Given the description of an element on the screen output the (x, y) to click on. 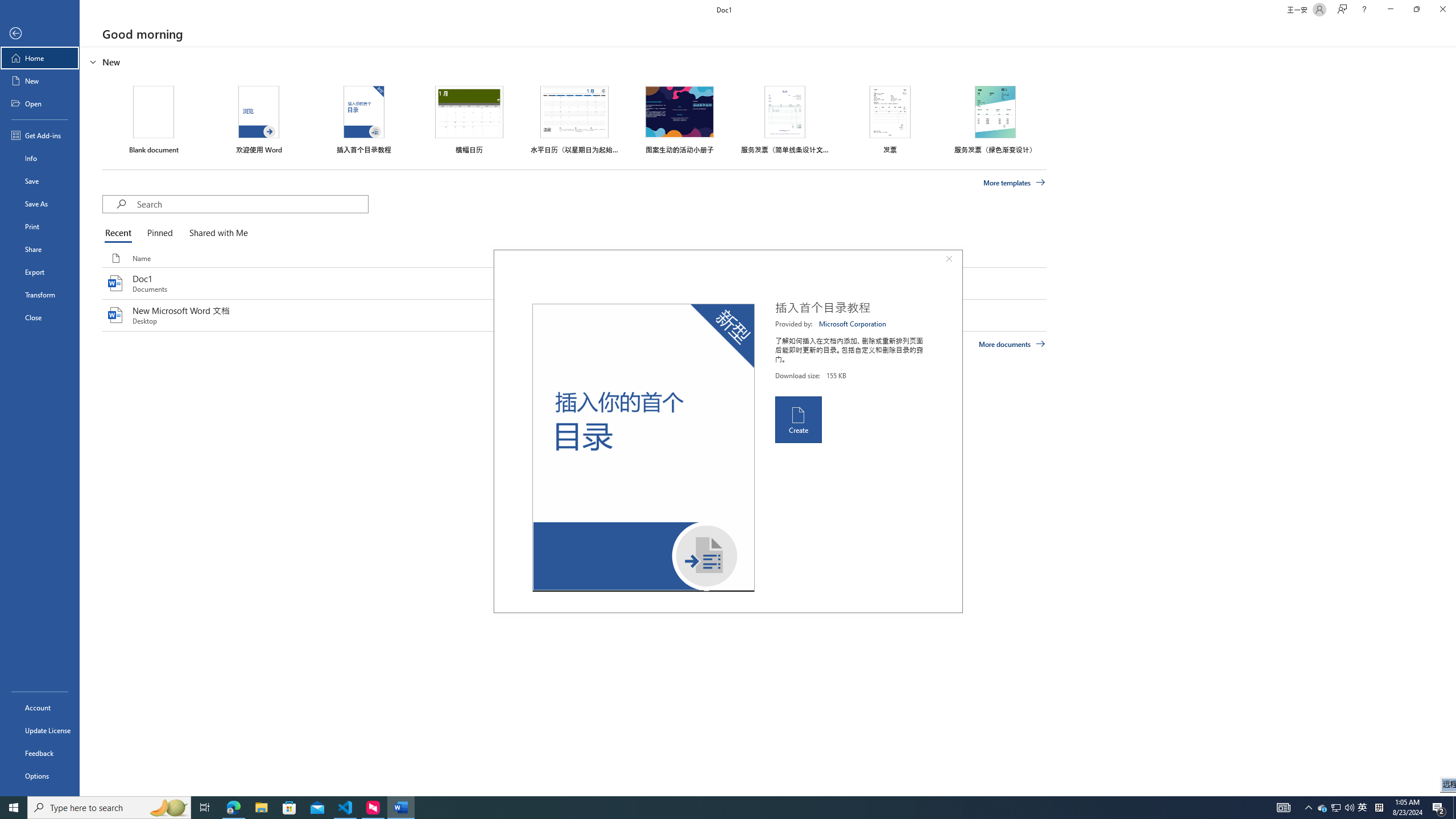
Print (40, 225)
Save As (40, 203)
Update License (40, 730)
Help (1364, 9)
Search (252, 203)
More documents (1011, 343)
Pinned (159, 233)
Home (40, 57)
Info (40, 157)
Restore Down (1416, 9)
Close (40, 317)
